Given the description of an element on the screen output the (x, y) to click on. 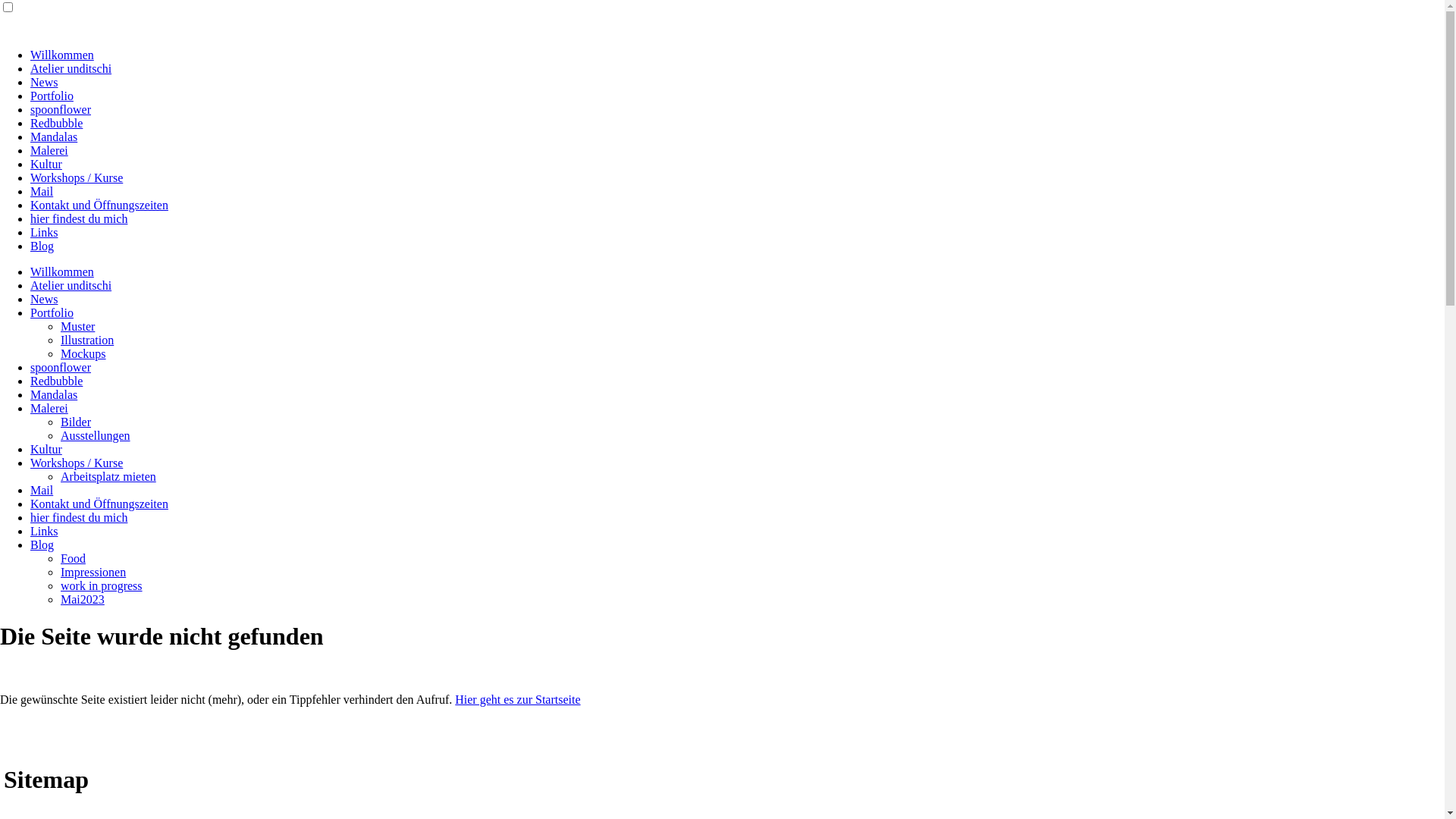
Mail Element type: text (41, 191)
hier findest du mich Element type: text (78, 517)
spoonflower Element type: text (60, 109)
Arbeitsplatz mieten Element type: text (108, 476)
Food Element type: text (72, 558)
Kultur Element type: text (46, 448)
Blog Element type: text (41, 245)
Bilder Element type: text (75, 421)
Impressionen Element type: text (92, 571)
Atelier unditschi Element type: text (70, 285)
Portfolio Element type: text (51, 312)
Portfolio Element type: text (51, 95)
Redbubble Element type: text (56, 380)
Links Element type: text (43, 530)
Mockups Element type: text (83, 353)
work in progress Element type: text (101, 585)
Workshops / Kurse Element type: text (76, 462)
News Element type: text (43, 298)
hier findest du mich Element type: text (78, 218)
Hier geht es zur Startseite Element type: text (517, 699)
Willkommen Element type: text (62, 54)
Malerei Element type: text (49, 407)
Mandalas Element type: text (53, 136)
Willkommen Element type: text (62, 271)
Kultur Element type: text (46, 163)
Mai2023 Element type: text (82, 599)
Muster Element type: text (77, 326)
spoonflower Element type: text (60, 366)
Links Element type: text (43, 231)
Atelier unditschi Element type: text (70, 68)
News Element type: text (43, 81)
Blog Element type: text (41, 544)
Illustration Element type: text (86, 339)
Ausstellungen Element type: text (95, 435)
Redbubble Element type: text (56, 122)
Workshops / Kurse Element type: text (76, 177)
Malerei Element type: text (49, 150)
Mail Element type: text (41, 489)
Mandalas Element type: text (53, 394)
